Given the description of an element on the screen output the (x, y) to click on. 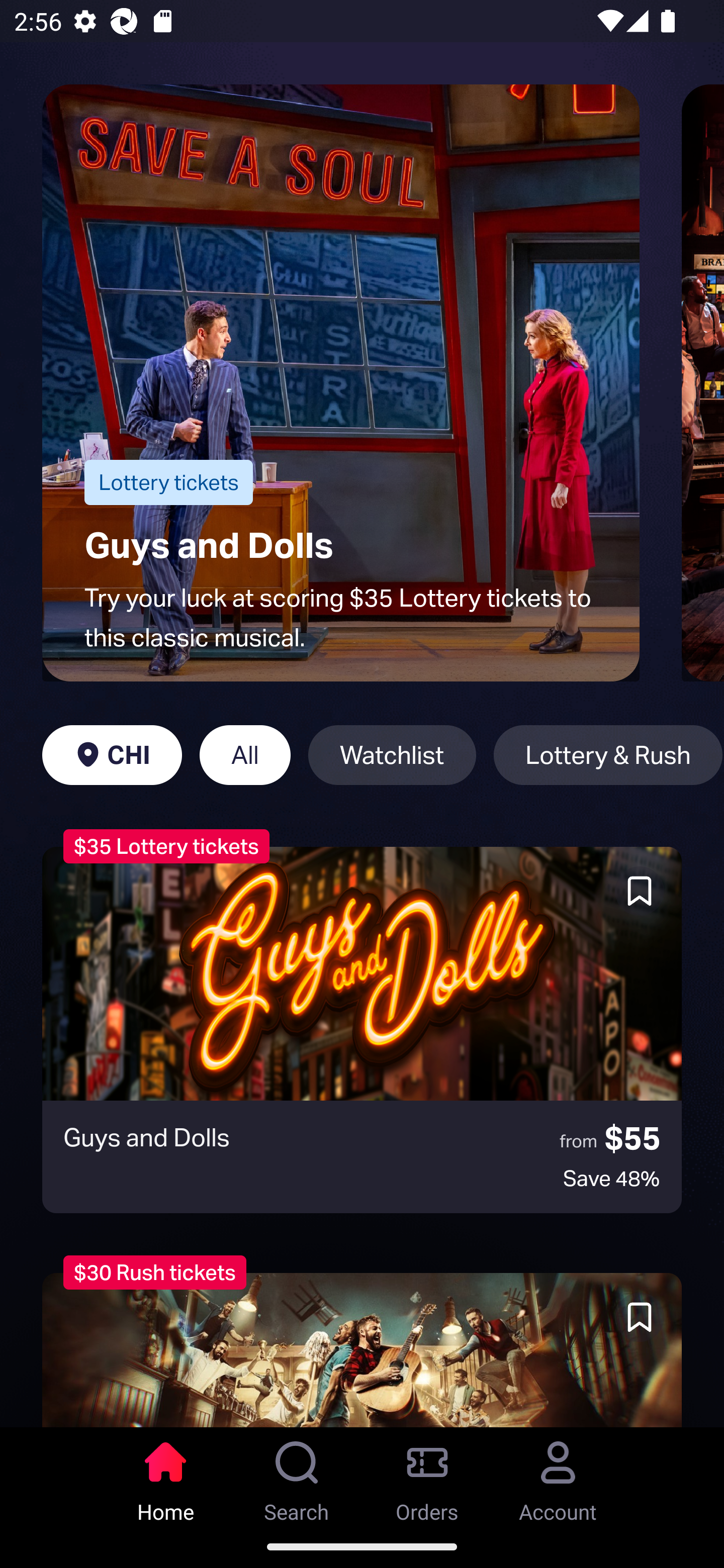
CHI (111, 754)
All (244, 754)
Watchlist (392, 754)
Lottery & Rush (607, 754)
Guys and Dolls from $55 Save 48% (361, 1029)
Search (296, 1475)
Orders (427, 1475)
Account (558, 1475)
